Given the description of an element on the screen output the (x, y) to click on. 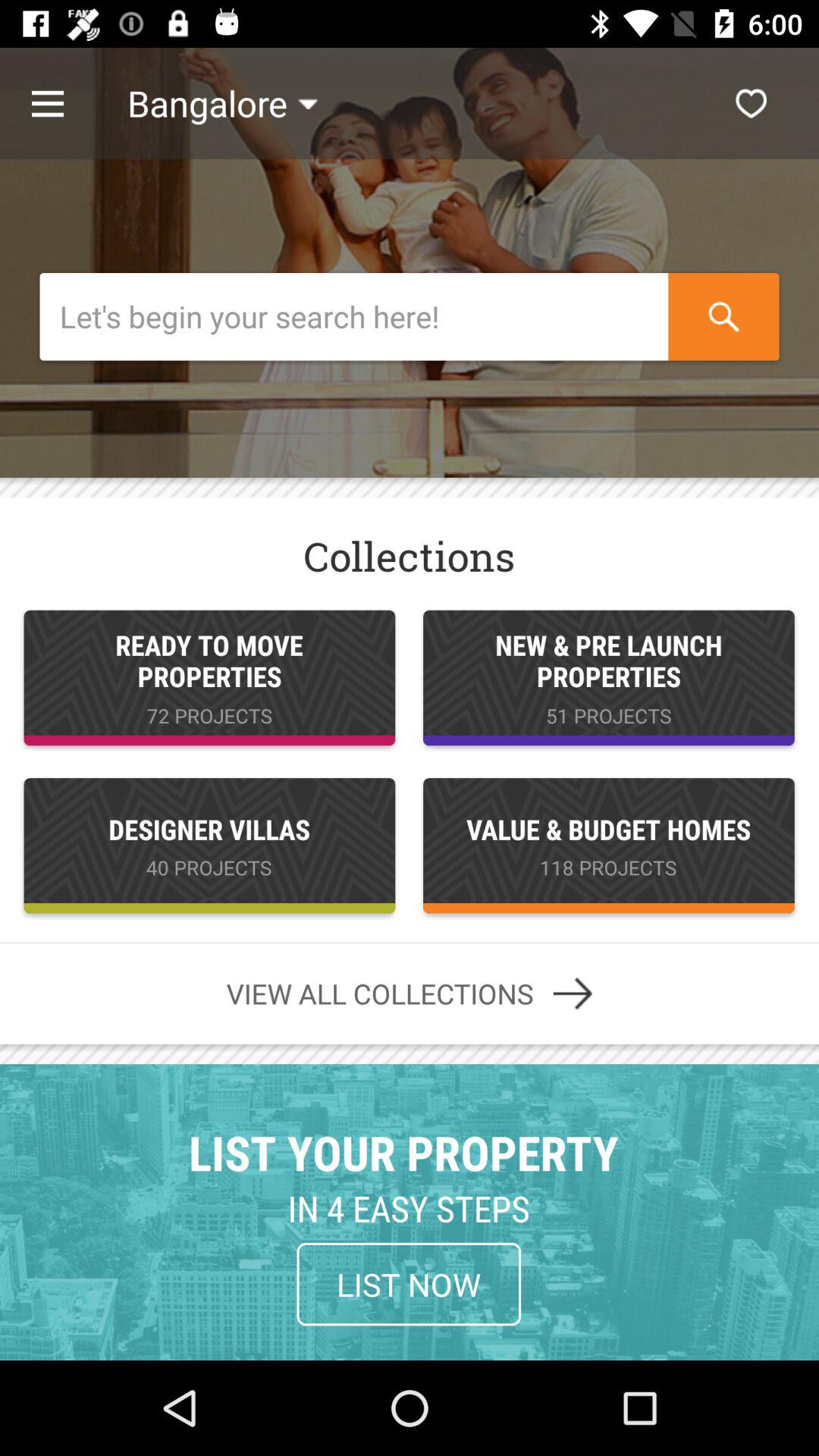
add to favorites (751, 103)
